Given the description of an element on the screen output the (x, y) to click on. 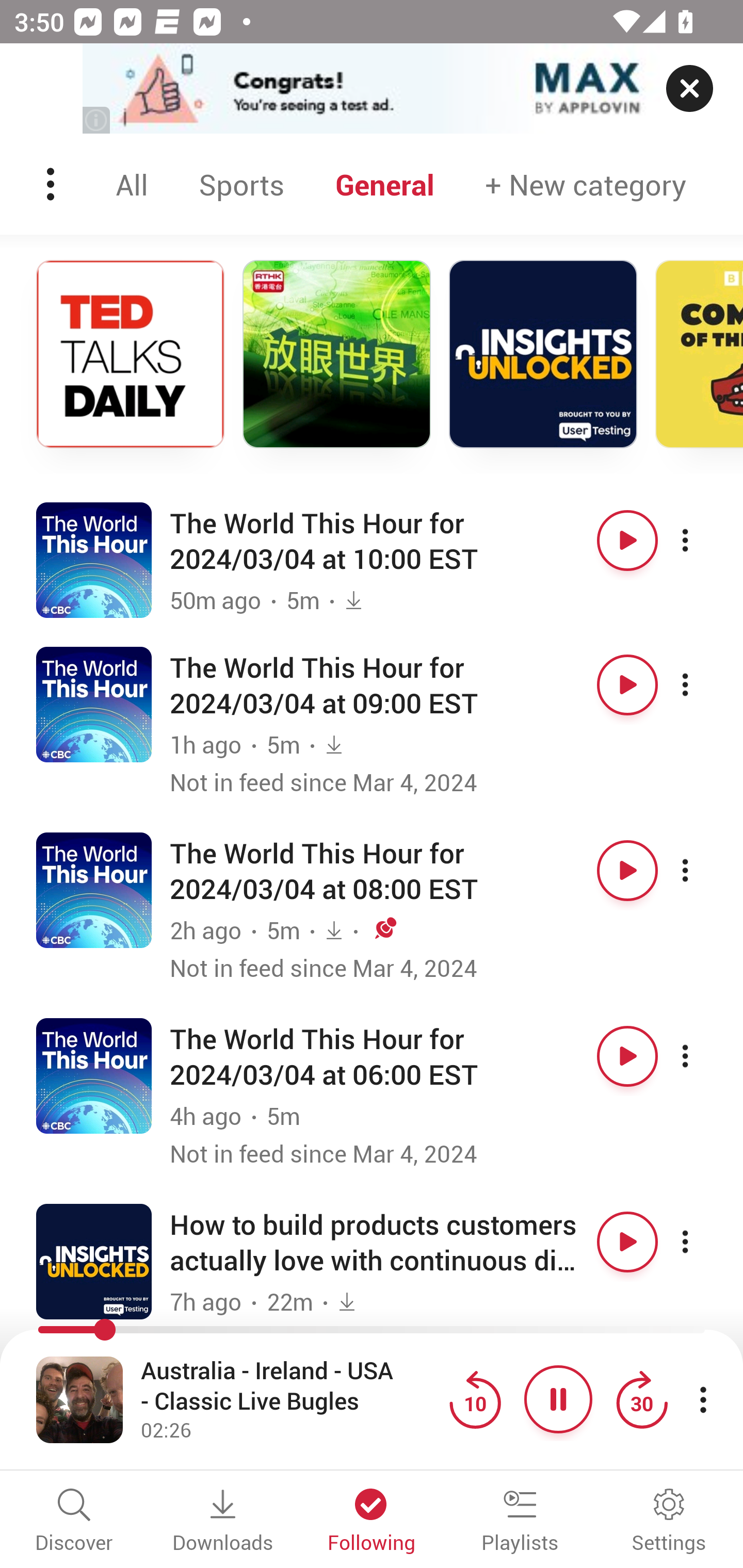
app-monetization (371, 88)
(i) (96, 119)
Menu (52, 184)
All (131, 184)
Sports (241, 184)
General (384, 184)
New category + New category (585, 184)
TED Talks Daily (130, 354)
放眼世界 (336, 354)
Insights Unlocked (542, 354)
Play button (627, 540)
More options (703, 540)
Open series The World This Hour (93, 559)
Play button (627, 685)
More options (703, 685)
Open series The World This Hour (93, 704)
Play button (627, 871)
More options (703, 871)
Open series The World This Hour (93, 890)
Play button (627, 1056)
More options (703, 1056)
Open series The World This Hour (93, 1075)
Play button (627, 1241)
More options (703, 1241)
Open series Insights Unlocked (93, 1261)
Open fullscreen player (79, 1399)
More player controls (703, 1399)
Australia - Ireland - USA - Classic Live Bugles (290, 1385)
Pause button (558, 1398)
Jump back (475, 1399)
Jump forward (641, 1399)
Discover (74, 1521)
Downloads (222, 1521)
Following (371, 1521)
Playlists (519, 1521)
Settings (668, 1521)
